Given the description of an element on the screen output the (x, y) to click on. 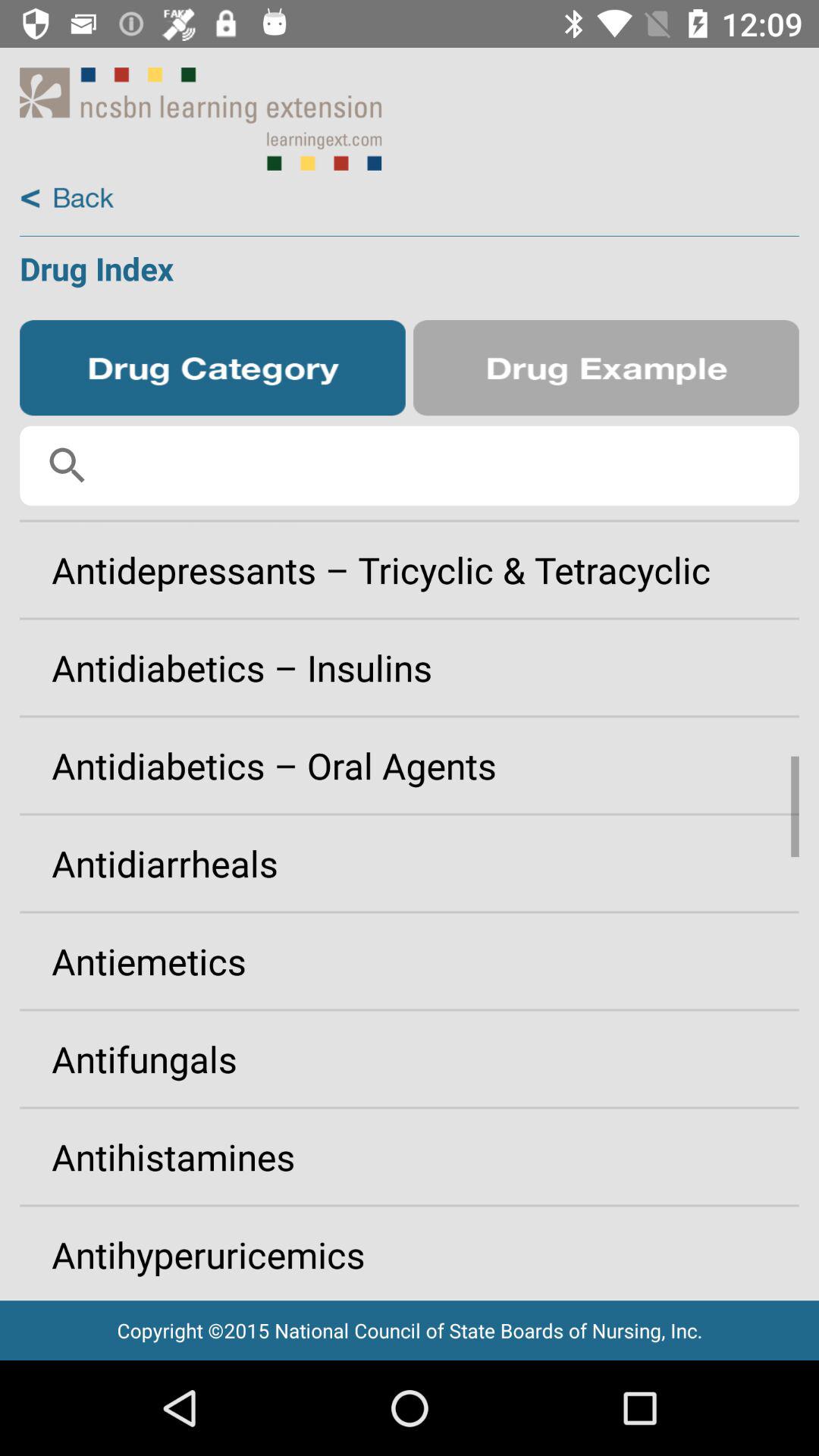
tap icon below the antihistamines (409, 1248)
